Given the description of an element on the screen output the (x, y) to click on. 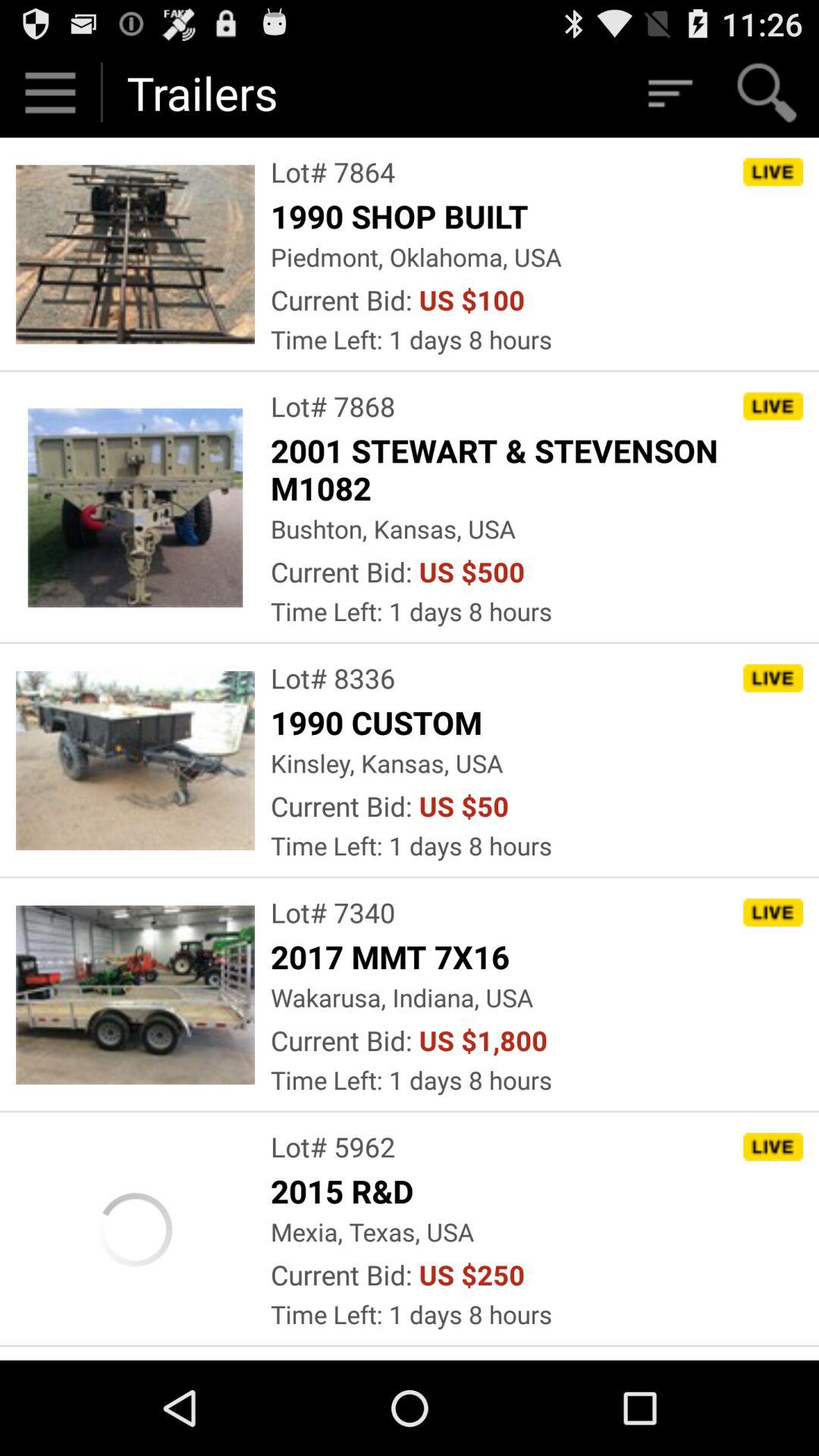
swipe until 1990 shop built  app (403, 215)
